Given the description of an element on the screen output the (x, y) to click on. 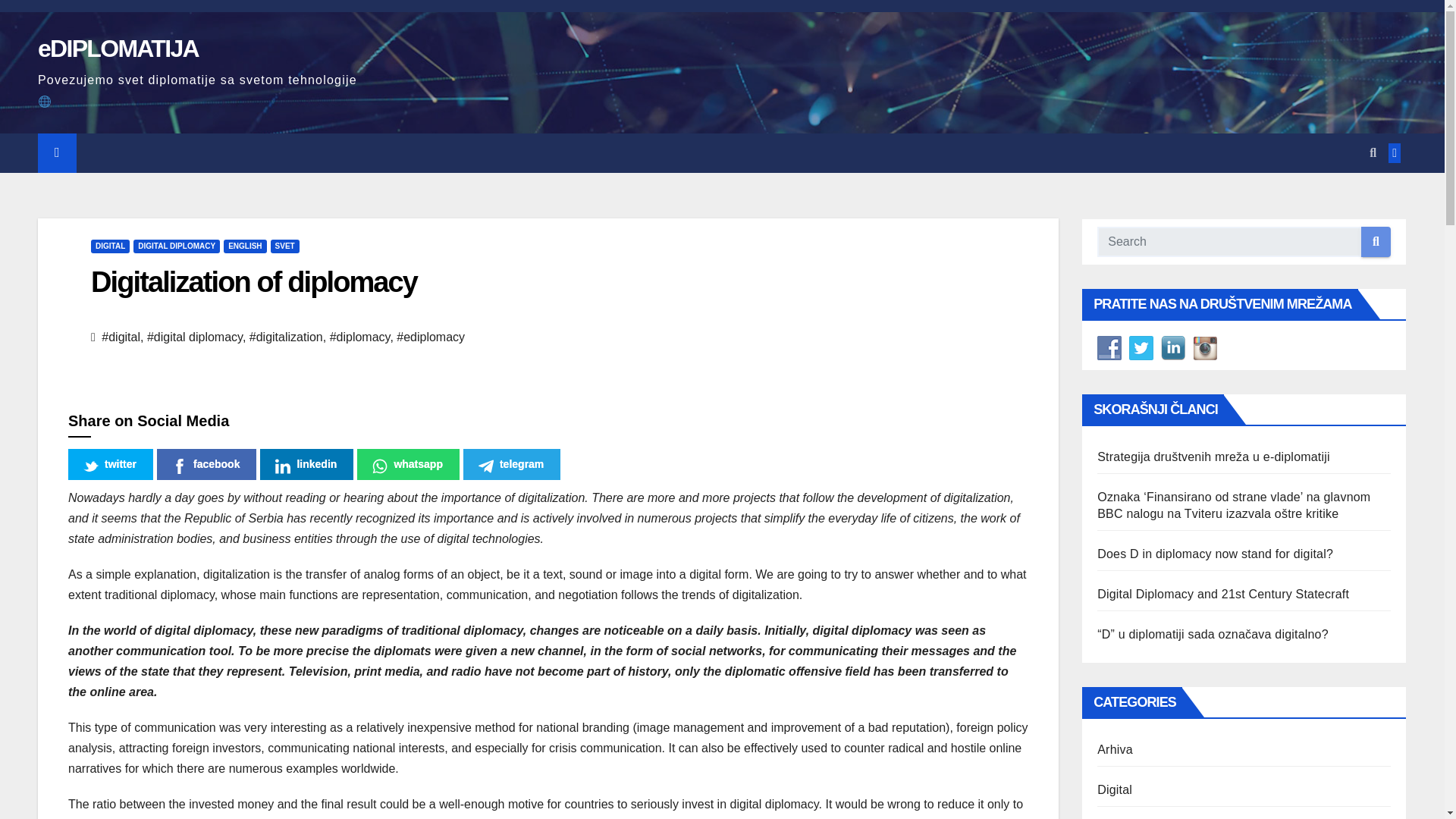
facebook (206, 463)
telegram (511, 463)
linkedin (306, 463)
DIGITAL (109, 246)
DIGITAL DIPLOMACY (176, 246)
eDIPLOMATIJA (117, 48)
SVET (284, 246)
Digitalization of diplomacy (253, 282)
ENGLISH (245, 246)
Permalink to: Digitalization of diplomacy (253, 282)
whatsapp (408, 463)
twitter (110, 463)
